Given the description of an element on the screen output the (x, y) to click on. 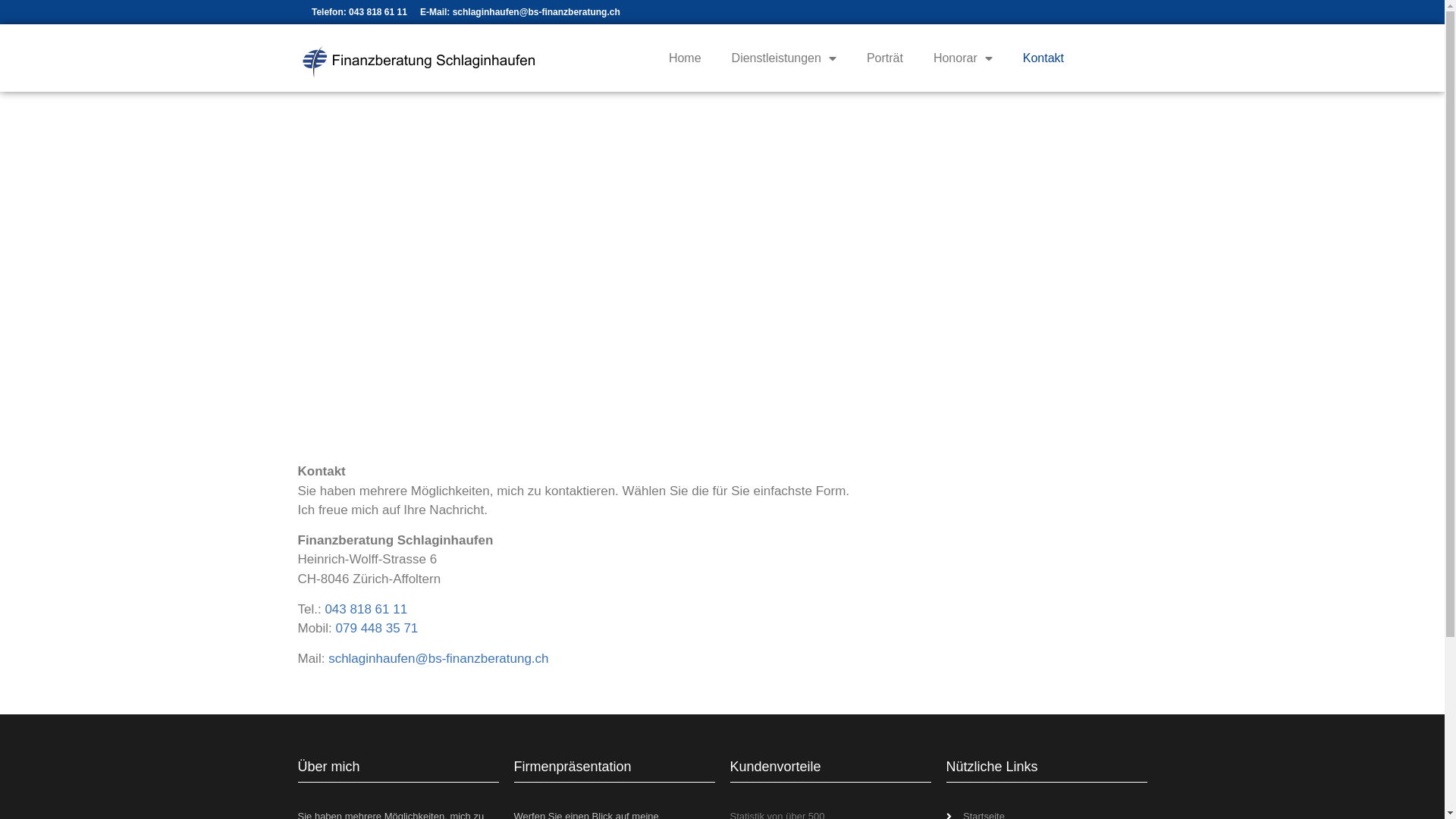
schlaginhaufen@bs-finanzberatung.ch Element type: text (438, 658)
Dienstleistungen Element type: text (783, 57)
E-Mail: schlaginhaufen@bs-finanzberatung.ch Element type: text (520, 11)
Telefon: 043 818 61 11 Element type: text (358, 11)
043 818 61 11 Element type: text (365, 609)
Kontakt Element type: text (1043, 57)
Home Element type: text (684, 57)
Honorar Element type: text (962, 57)
079 448 35 71 Element type: text (376, 628)
